Given the description of an element on the screen output the (x, y) to click on. 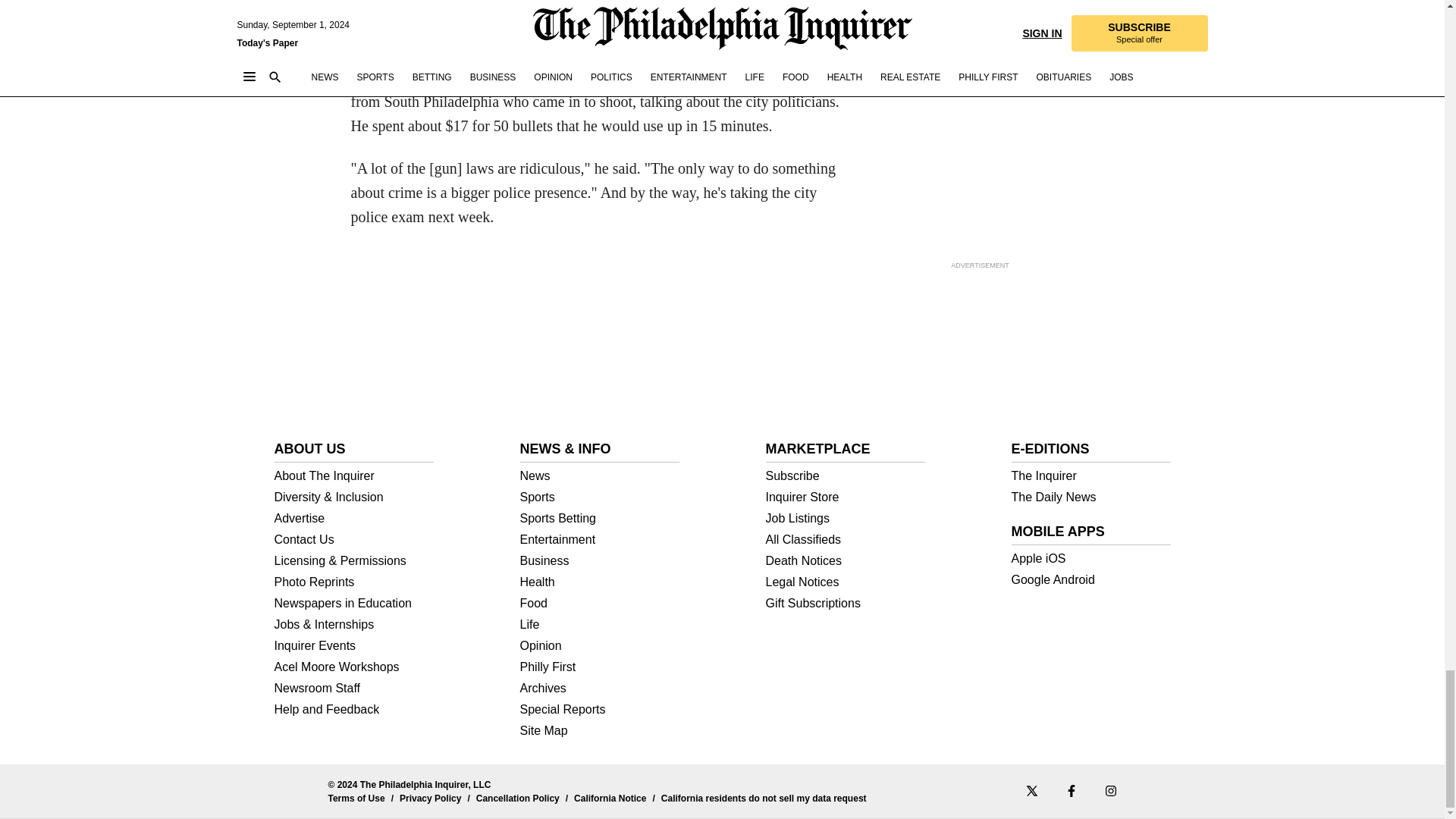
About The Inquirer (354, 476)
Advertise (354, 518)
Contact Us (354, 539)
Facebook (1070, 790)
Instagram (1109, 790)
X (1030, 790)
